Given the description of an element on the screen output the (x, y) to click on. 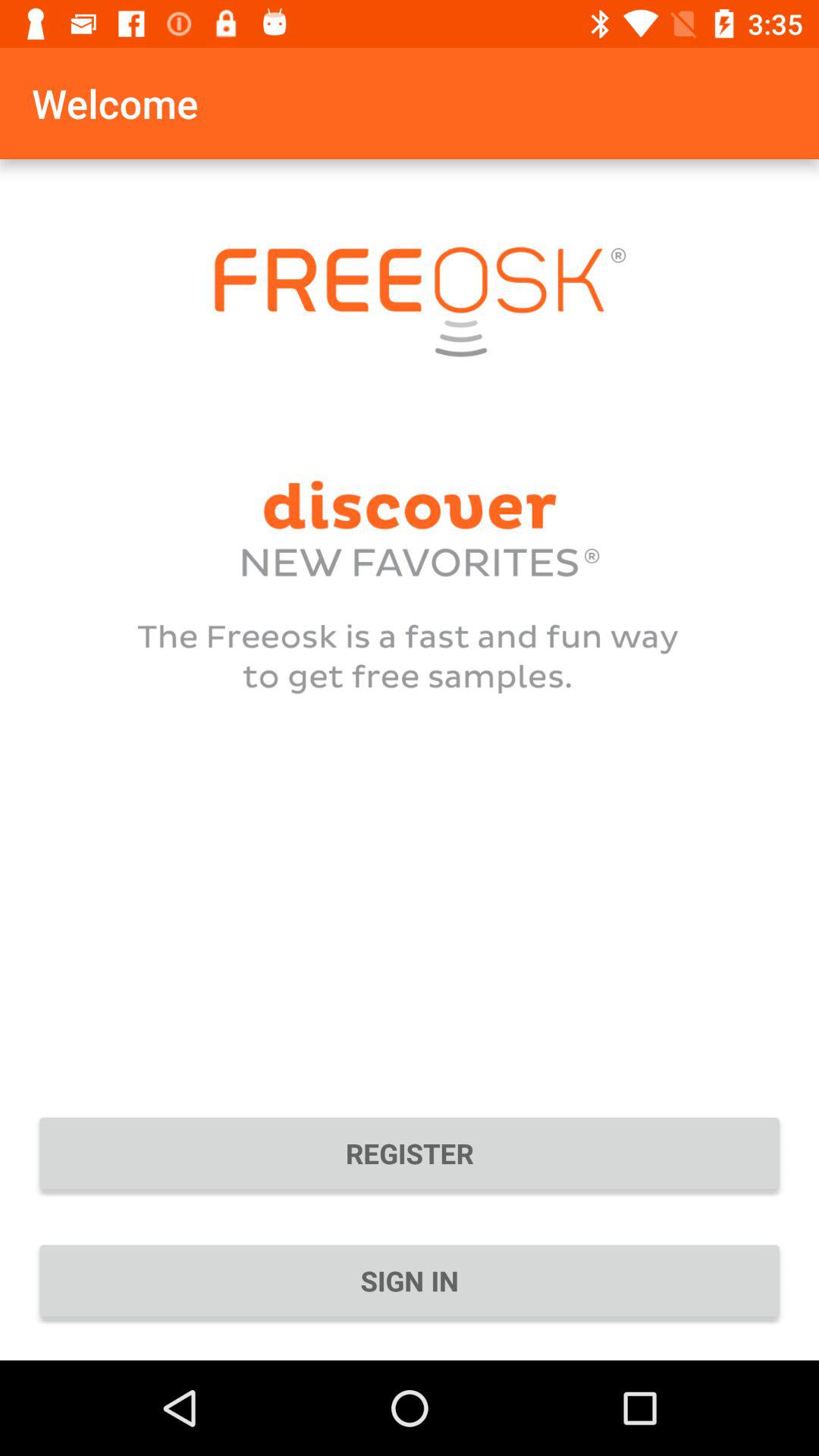
tap item below register (409, 1280)
